Given the description of an element on the screen output the (x, y) to click on. 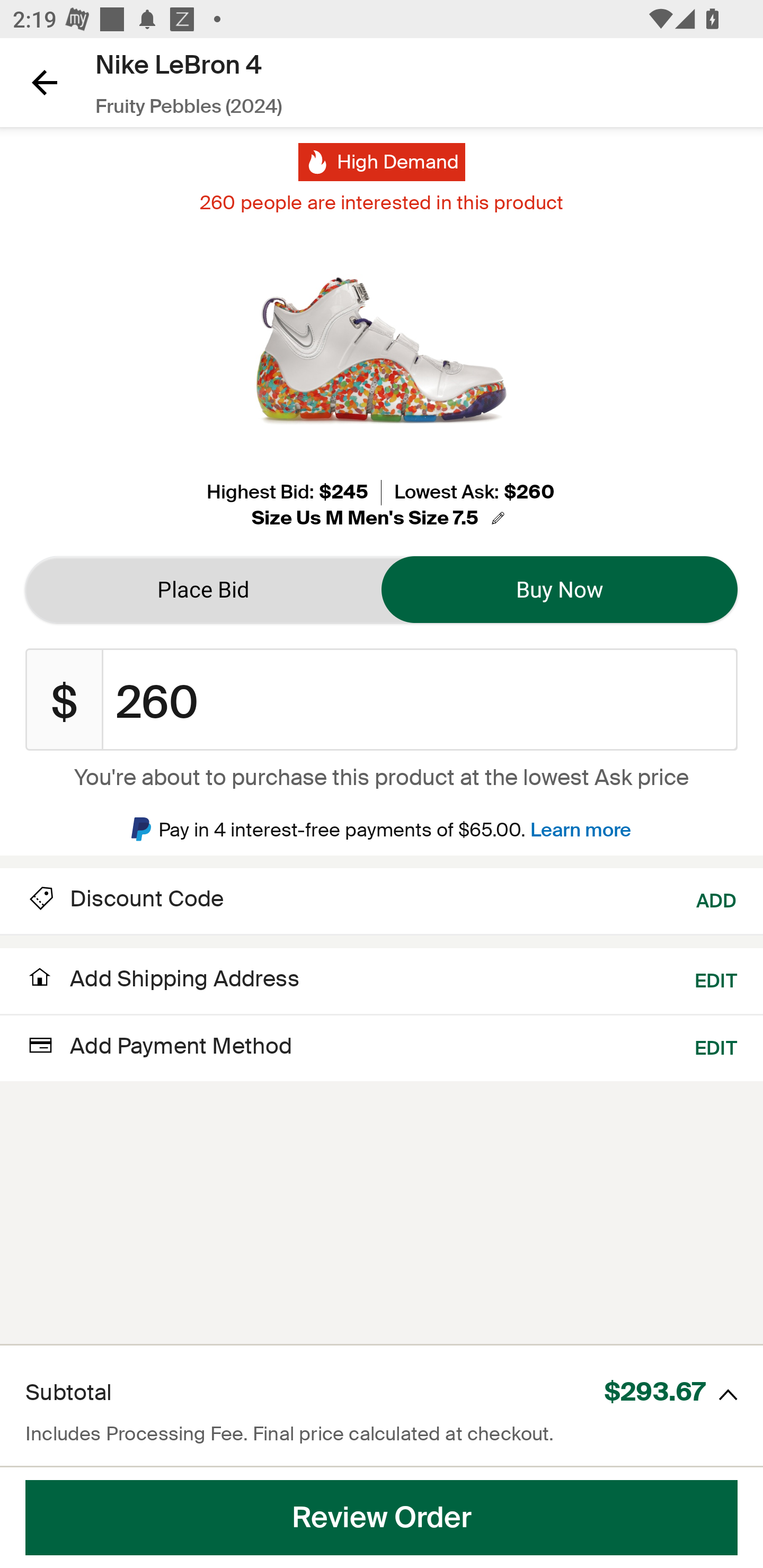
Navigate up (44, 82)
Sneaker Image (381, 350)
Size Us M Men's Size 7.5 An image (380, 517)
260 (420, 700)
Add Discount Code Discount Code (124, 899)
ADD (717, 899)
Edit Payment Icon Add Shipping Address (162, 983)
EDIT (716, 978)
Edit Payment Icon Add Payment Method (158, 1045)
EDIT (716, 1045)
Review Order (381, 1517)
